Given the description of an element on the screen output the (x, y) to click on. 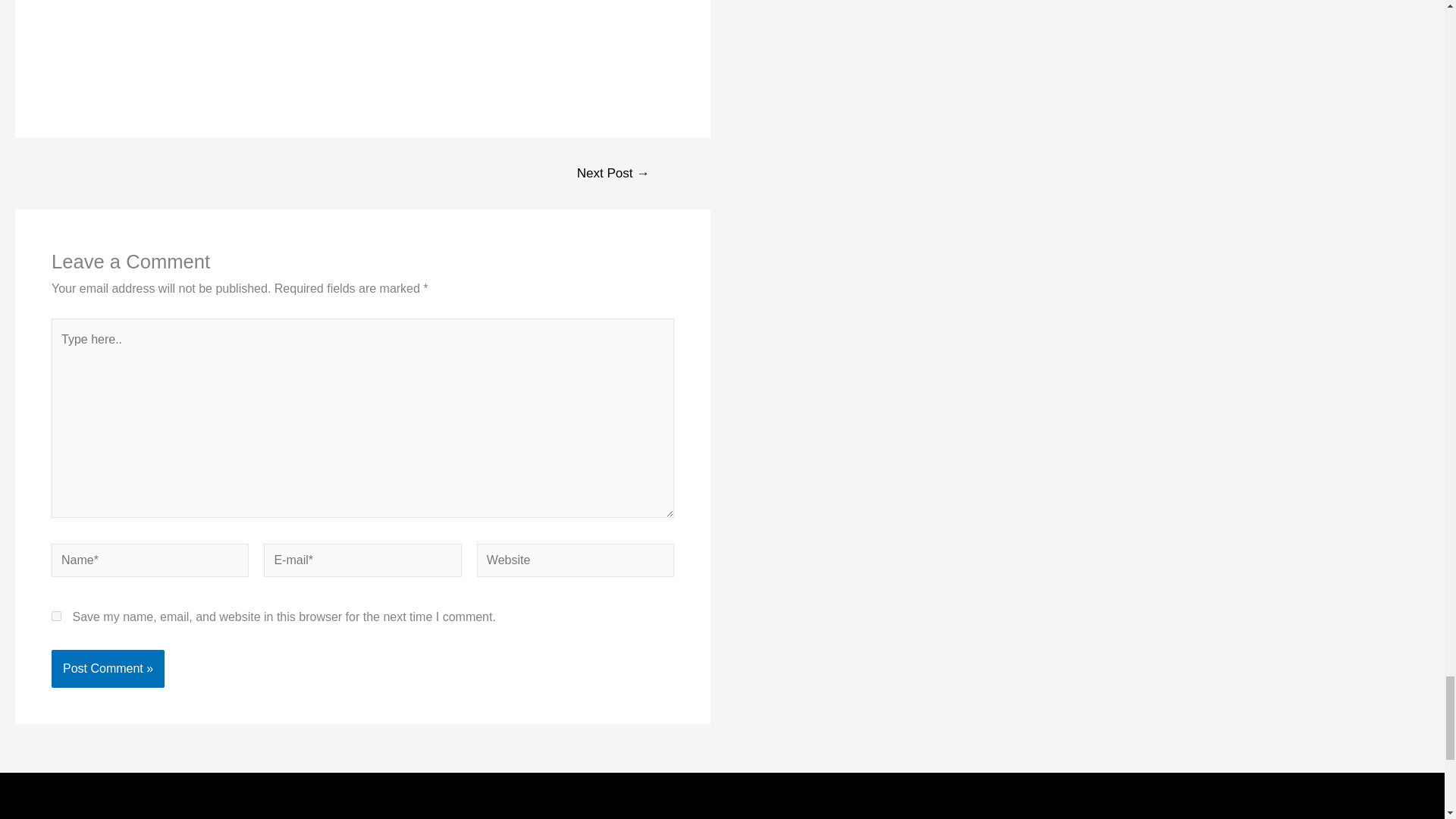
yes (55, 615)
